Given the description of an element on the screen output the (x, y) to click on. 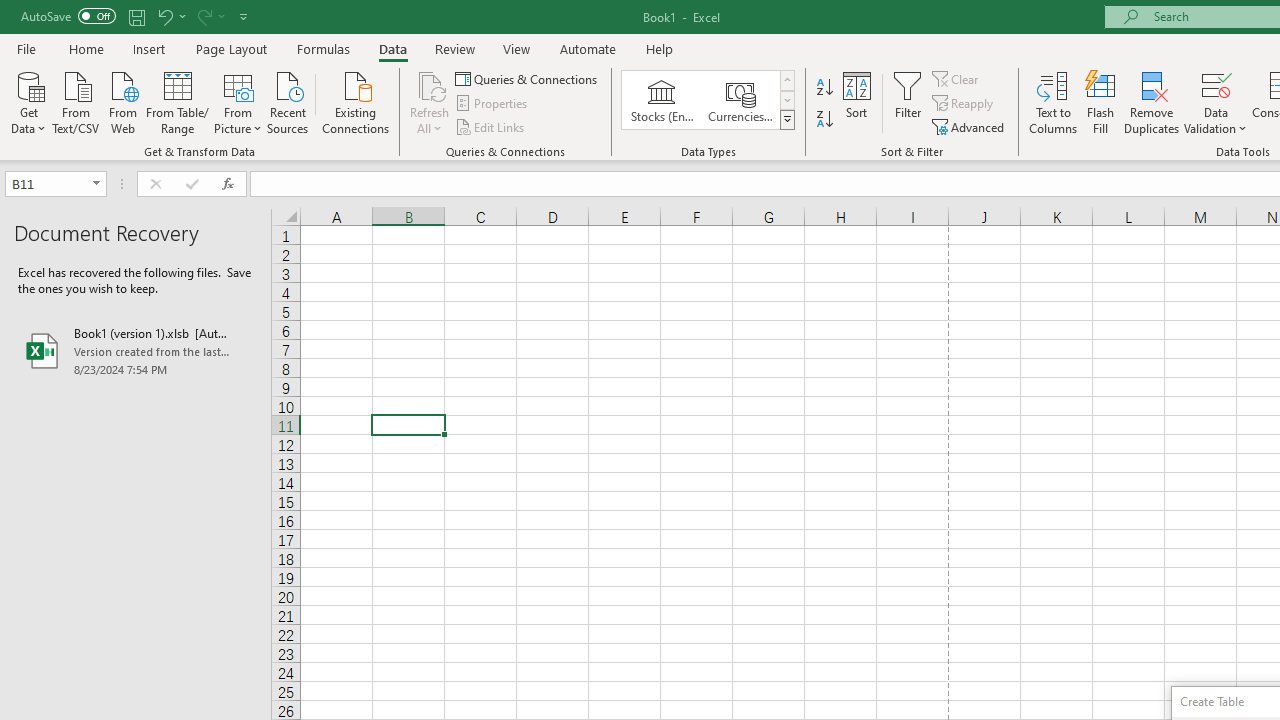
AutomationID: ConvertToLinkedEntity (708, 99)
Remove Duplicates (1151, 102)
Refresh All (429, 84)
Sort Z to A (824, 119)
Get Data (28, 101)
Class: NetUIImage (787, 119)
Flash Fill (1101, 102)
Properties (492, 103)
AutoSave (68, 16)
